Given the description of an element on the screen output the (x, y) to click on. 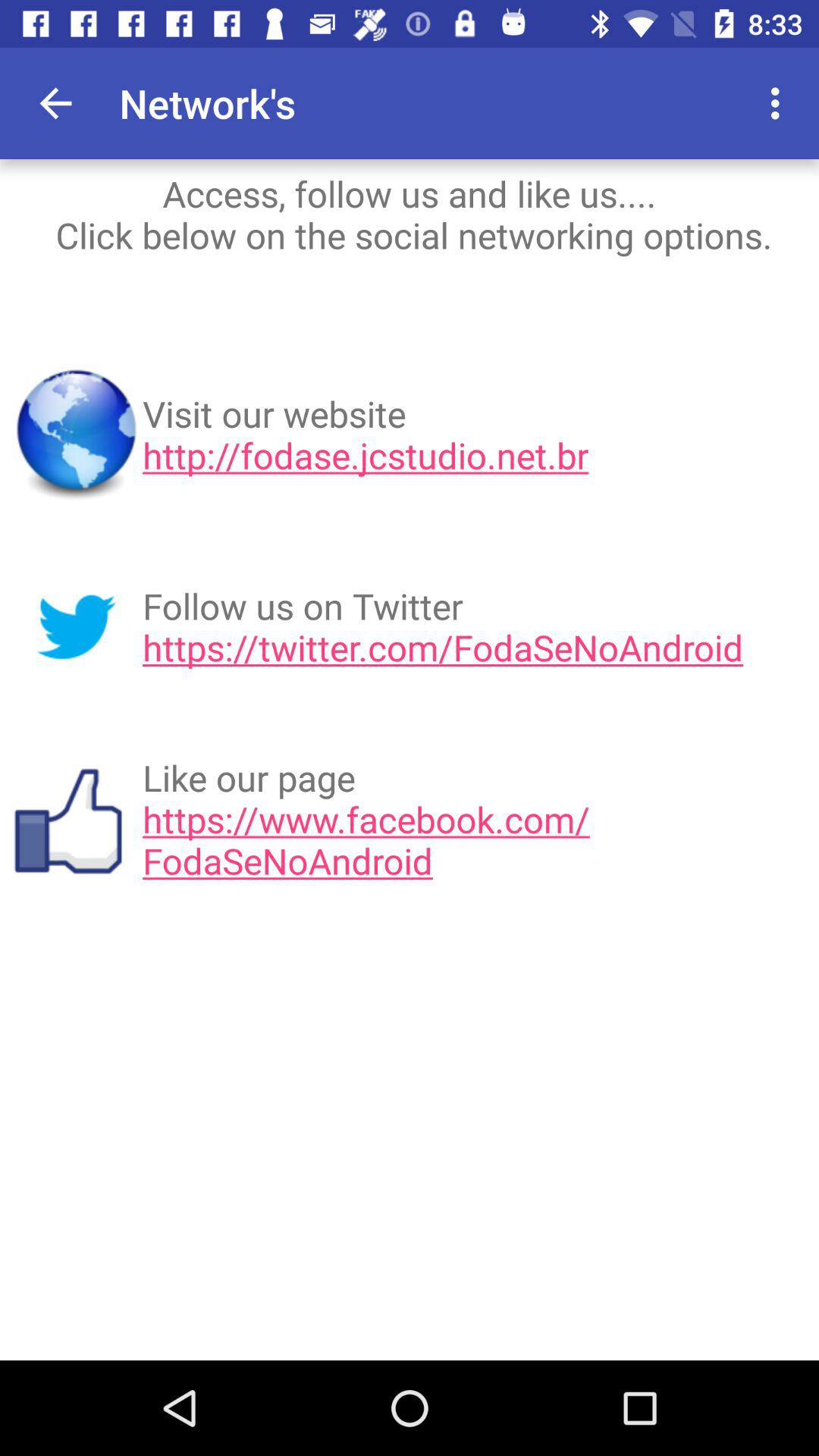
turn on the item to the right of network's app (691, 103)
